Given the description of an element on the screen output the (x, y) to click on. 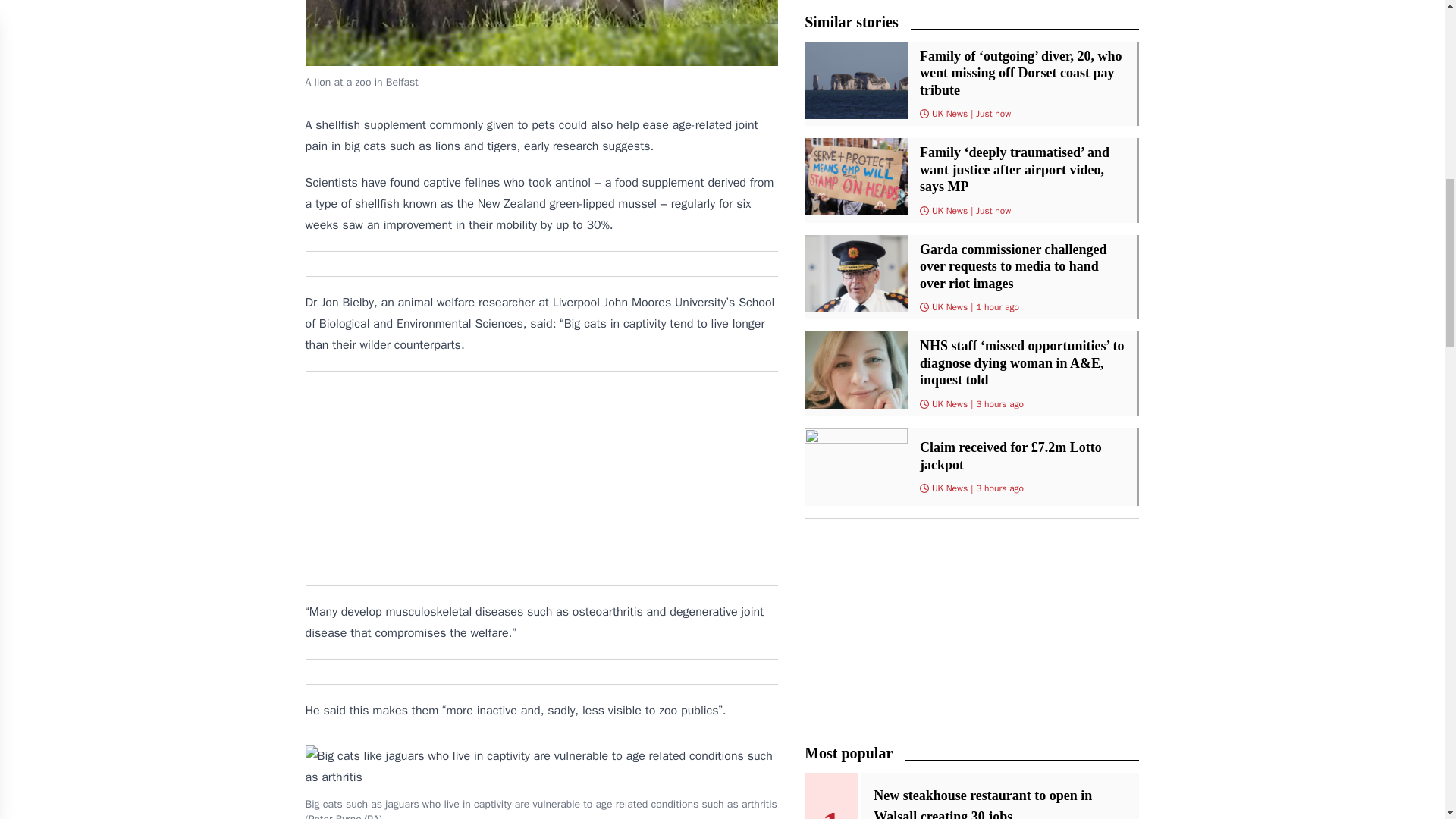
UK News (949, 306)
UK News (949, 488)
UK News (949, 210)
UK News (949, 113)
UK News (949, 404)
